Given the description of an element on the screen output the (x, y) to click on. 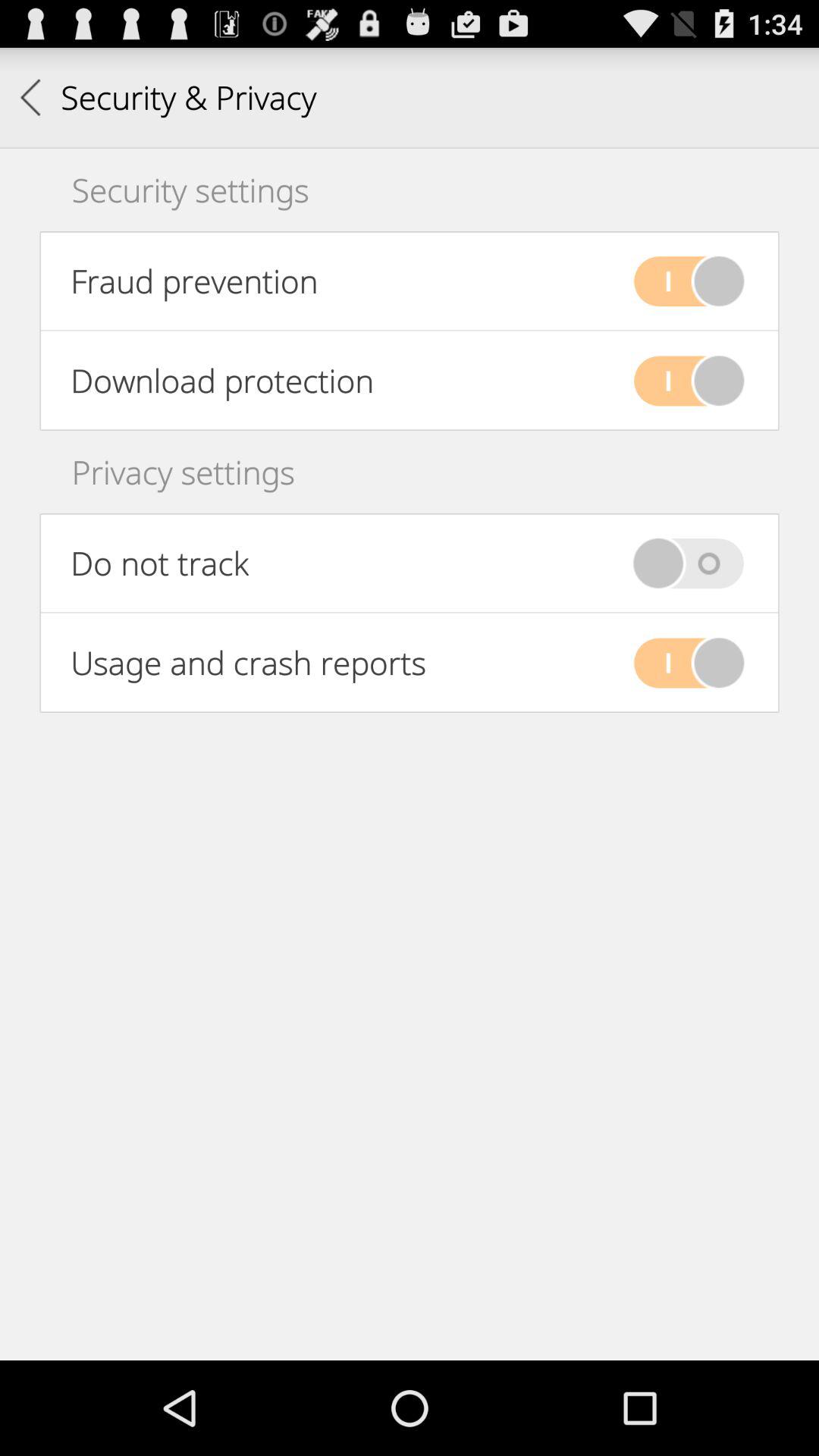
scroll to security & privacy item (168, 97)
